Given the description of an element on the screen output the (x, y) to click on. 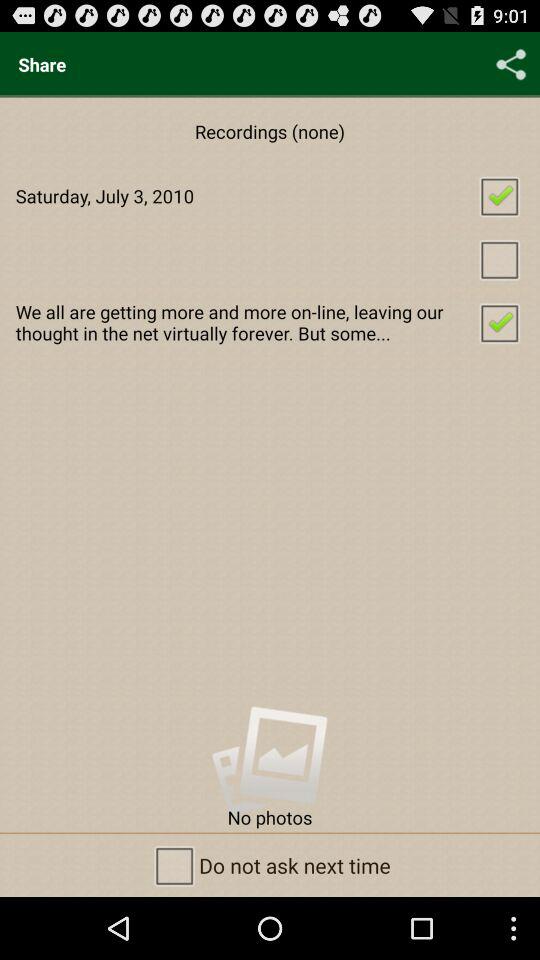
tap app below the recordings (none) item (269, 195)
